Given the description of an element on the screen output the (x, y) to click on. 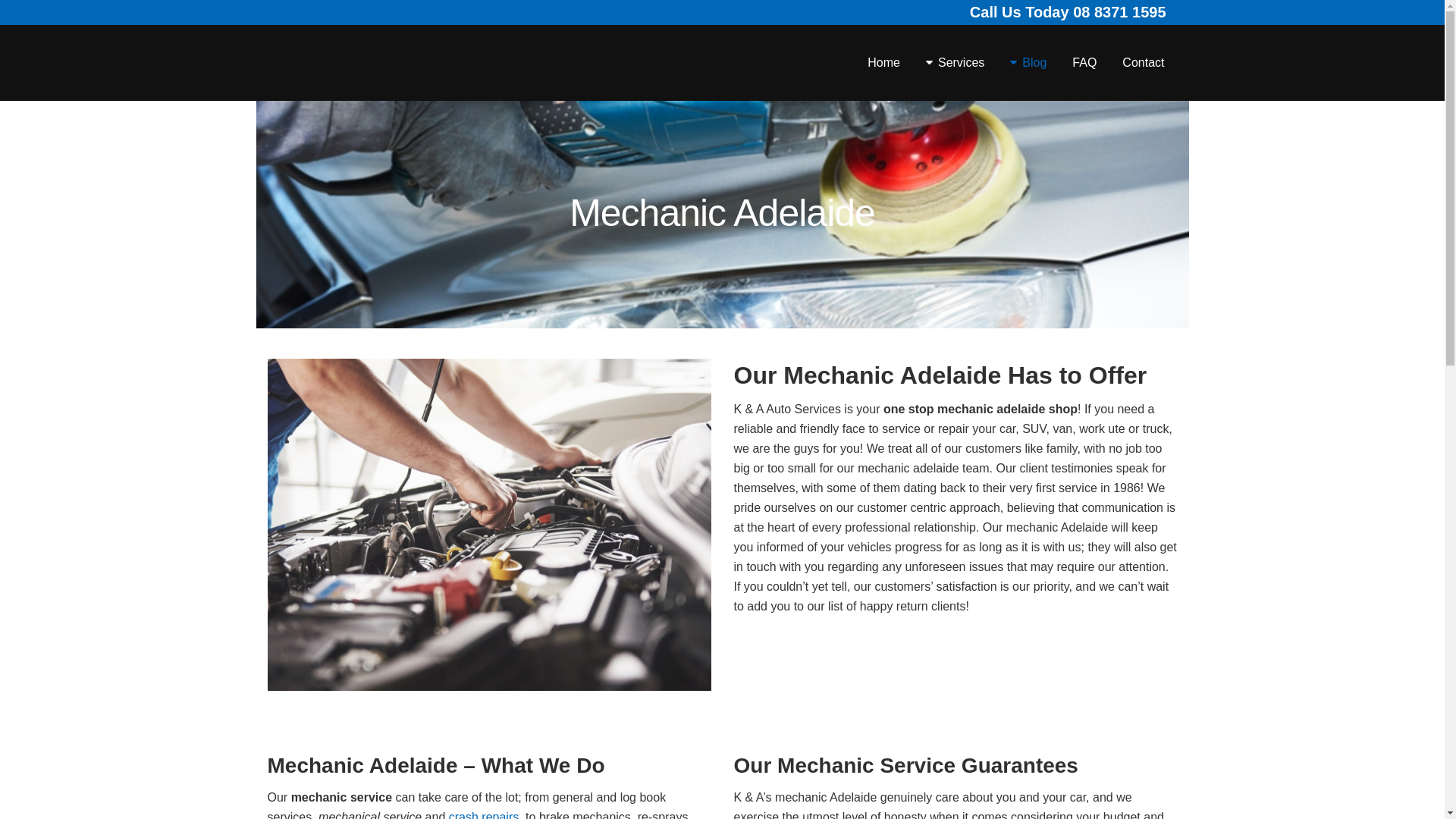
Services Element type: text (955, 62)
08 8371 1595 Element type: text (1119, 11)
Home Element type: text (883, 62)
Blog Element type: text (1028, 62)
mechanic Adelaide Element type: hover (488, 523)
FAQ Element type: text (1084, 62)
Contact Element type: text (1142, 62)
